Given the description of an element on the screen output the (x, y) to click on. 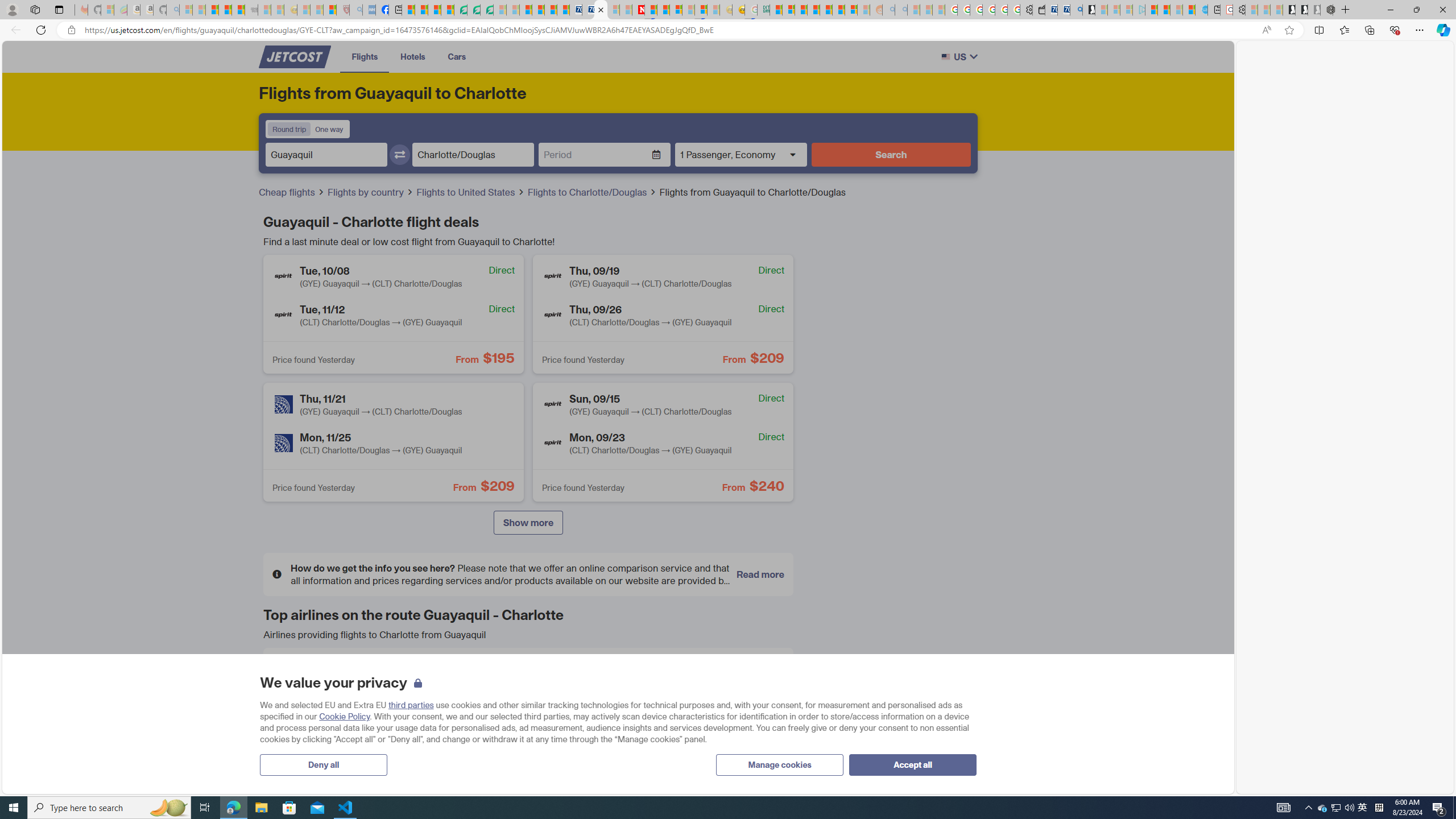
Trusted Community Engagement and Contributions | Guidelines (650, 9)
Microsoft Start - Sleeping (1176, 9)
Latest Politics News & Archive | Newsweek.com (638, 9)
LATAM (461, 715)
Read aloud this page (Ctrl+Shift+U) (1266, 29)
Tab actions menu (58, 9)
Microsoft account | Privacy (788, 9)
Home | Sky Blue Bikes - Sky Blue Bikes (1201, 9)
Microsoft Word - consumer-privacy address update 2.2021 (486, 9)
Period (595, 154)
Split screen (1318, 29)
Recipes - MSN - Sleeping (303, 9)
Microsoft account | Privacy - Sleeping (1126, 9)
Flights to United States (470, 191)
